Given the description of an element on the screen output the (x, y) to click on. 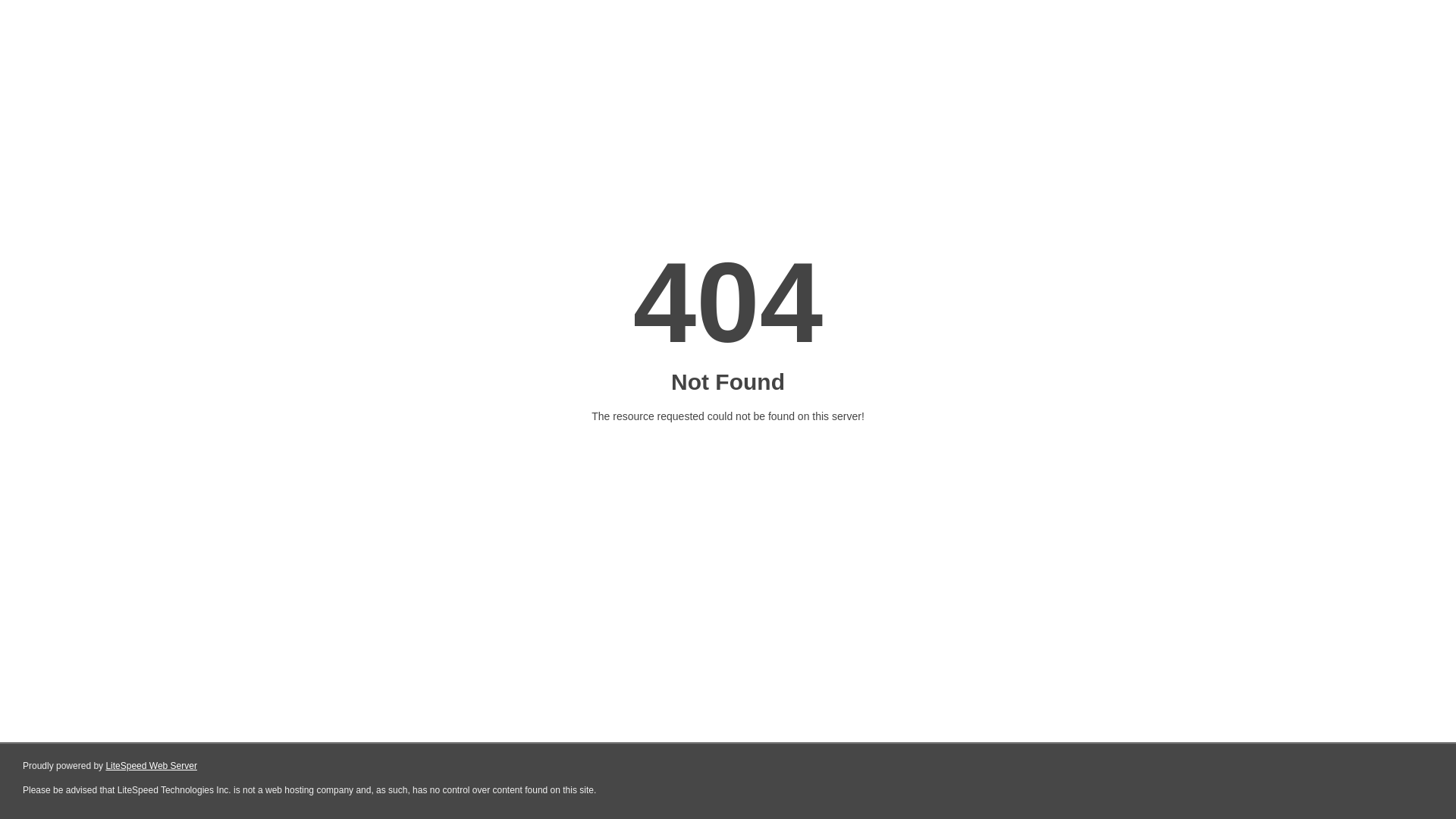
LiteSpeed Web Server Element type: text (151, 765)
